Given the description of an element on the screen output the (x, y) to click on. 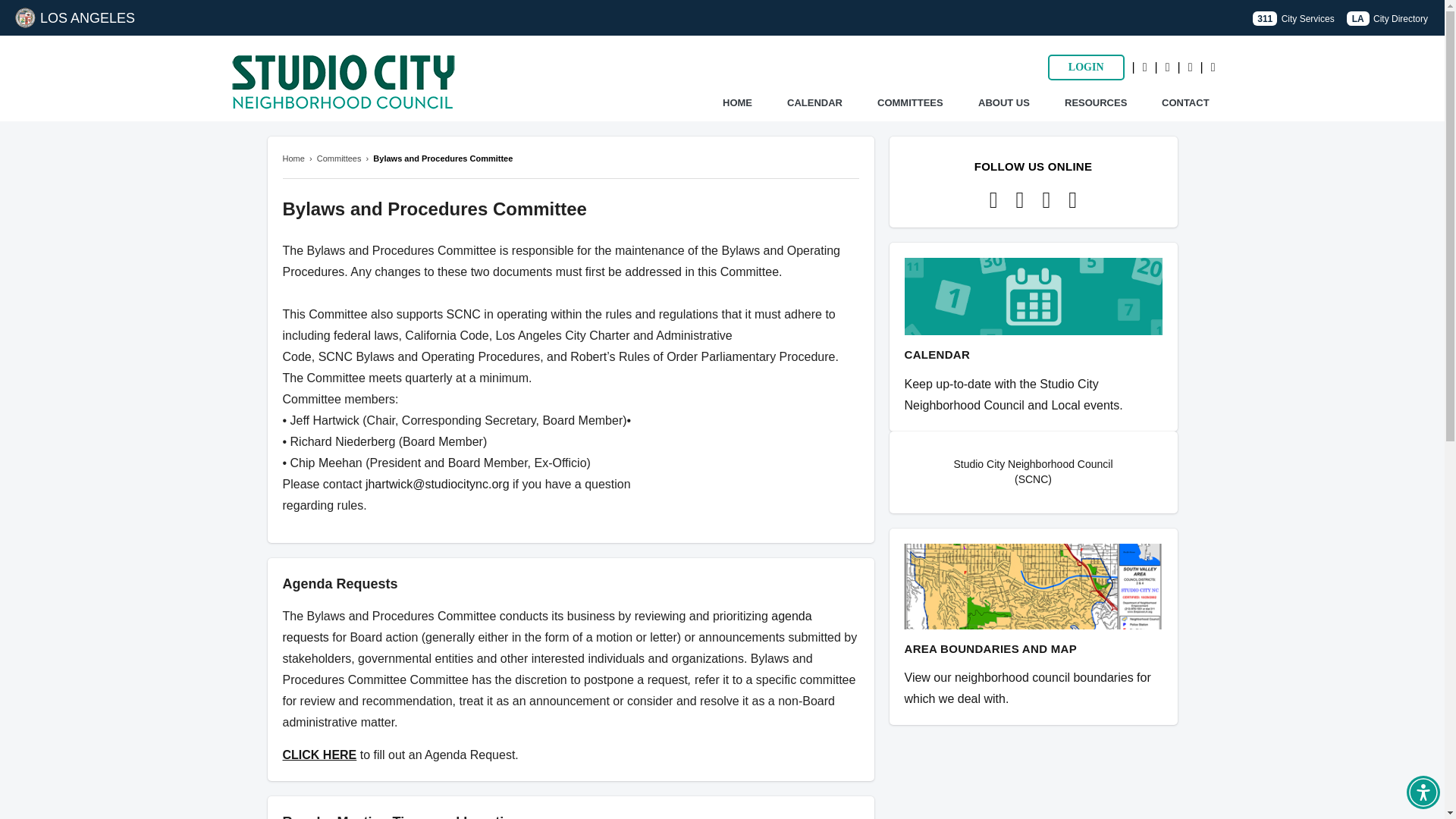
ABOUT US (1003, 102)
COMMITTEES (909, 102)
311 City Services (1292, 18)
LOGIN (1086, 67)
LA City Directory (1387, 18)
agenda requests (546, 626)
CONTACT (1185, 102)
Accessibility Menu (1422, 792)
HOME (737, 102)
CLICK HERE (319, 754)
RESOURCES (1095, 102)
Bylaws and Procedures Committee (442, 157)
Home (293, 157)
CALENDAR (814, 102)
Committees (339, 157)
